Given the description of an element on the screen output the (x, y) to click on. 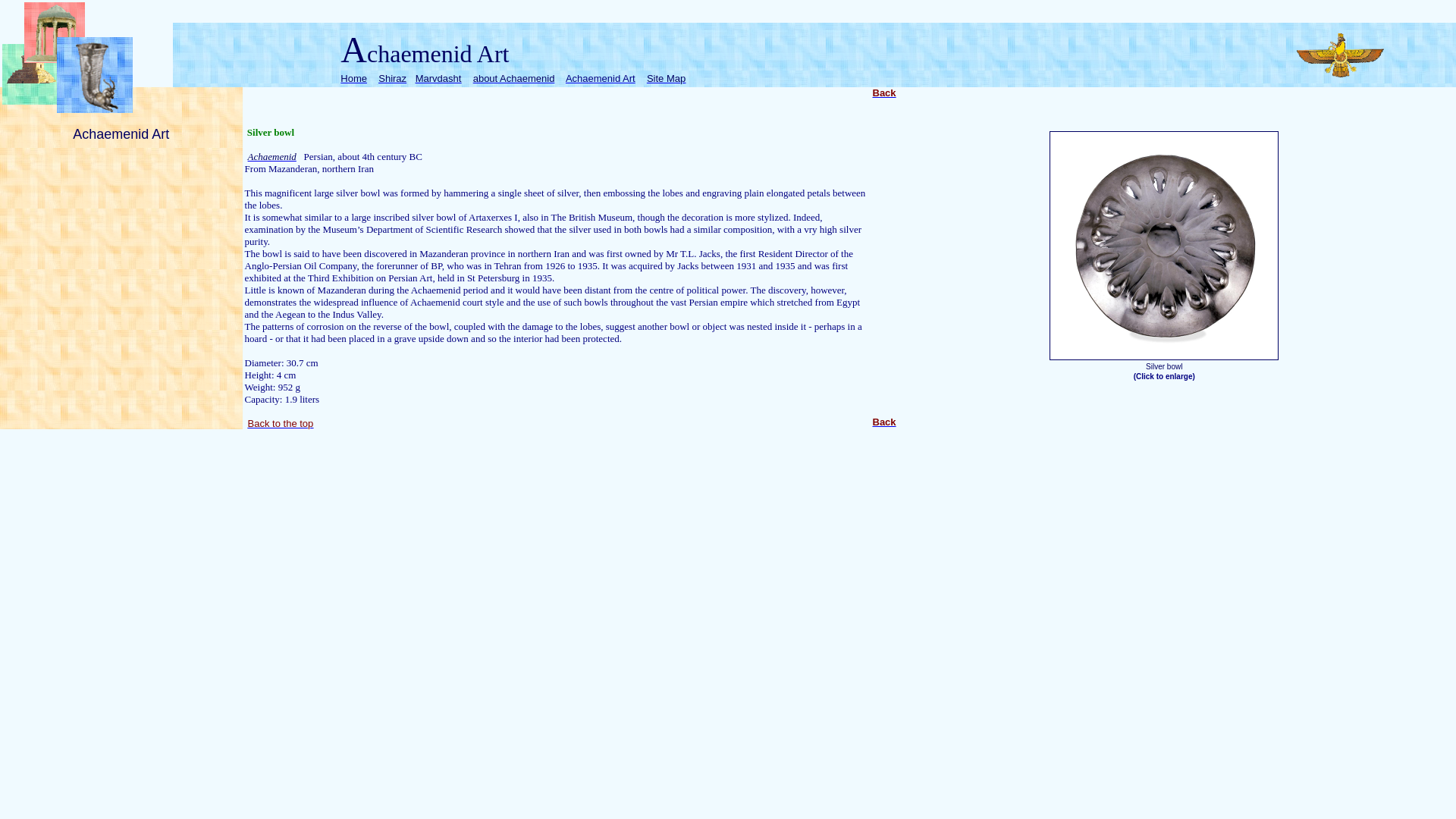
Back (883, 421)
about Achaemenid (513, 78)
Back (883, 92)
Achaemenid (272, 156)
Shiraz (392, 78)
Marvdasht "Perspolis" (437, 78)
Marvdasht (437, 78)
Click to enlarge (1164, 376)
Back to the top (280, 423)
History of Achaemenid (513, 78)
Home (353, 78)
Shiraz (392, 78)
Back to the top (280, 423)
Site Map (665, 78)
Achaemenid Art (600, 78)
